Given the description of an element on the screen output the (x, y) to click on. 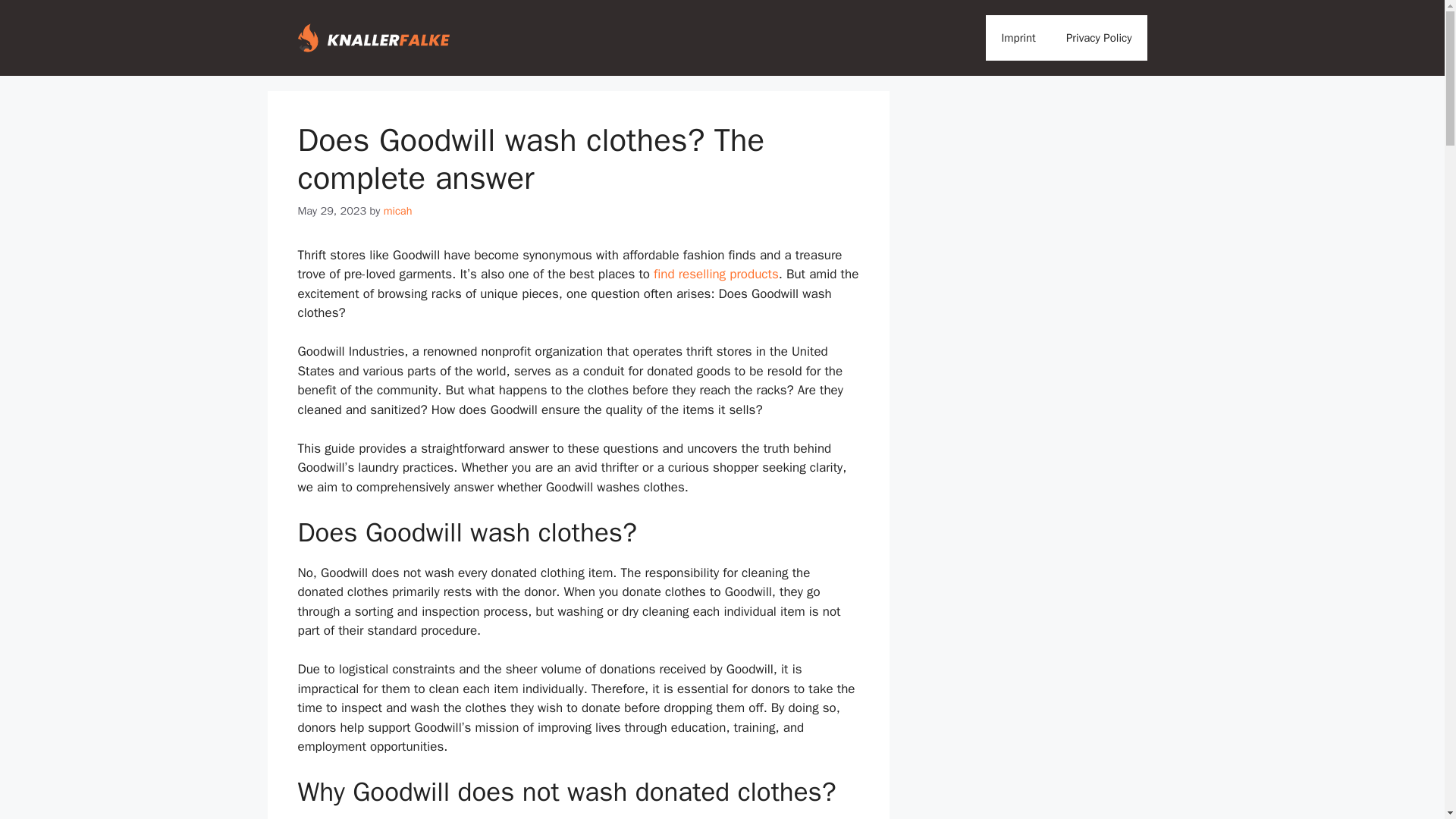
View all posts by micah (398, 210)
Privacy Policy (1099, 37)
micah (398, 210)
find reselling products (715, 273)
Imprint (1018, 37)
